Given the description of an element on the screen output the (x, y) to click on. 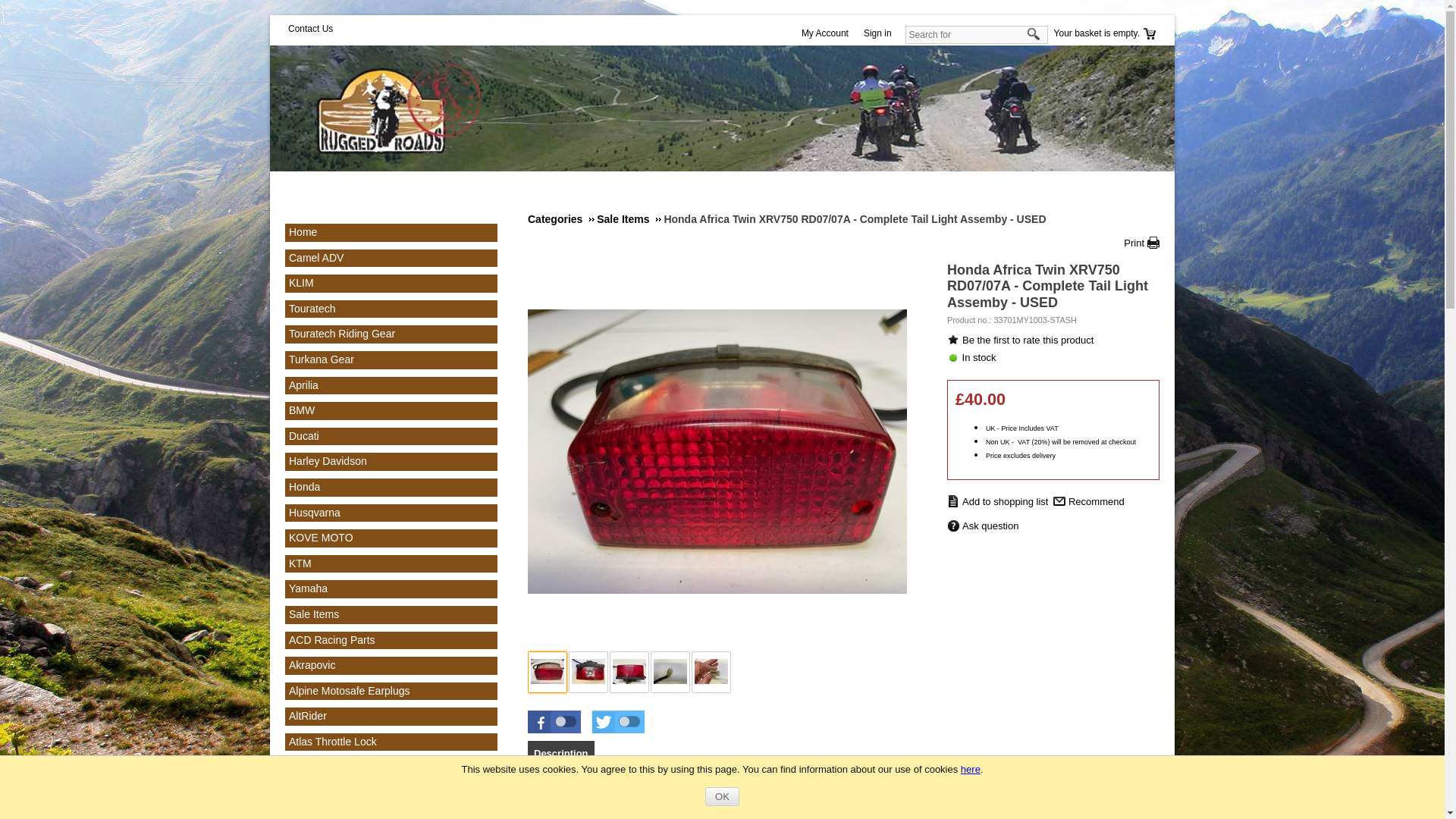
Yamaha (307, 588)
Turkana Gear (320, 358)
Touratech (311, 308)
Touratech Riding Gear (341, 333)
Start search (1034, 35)
Ducati (303, 435)
AltRider (307, 715)
KTM (299, 563)
Alpine Motosafe Earplugs (349, 690)
